Given the description of an element on the screen output the (x, y) to click on. 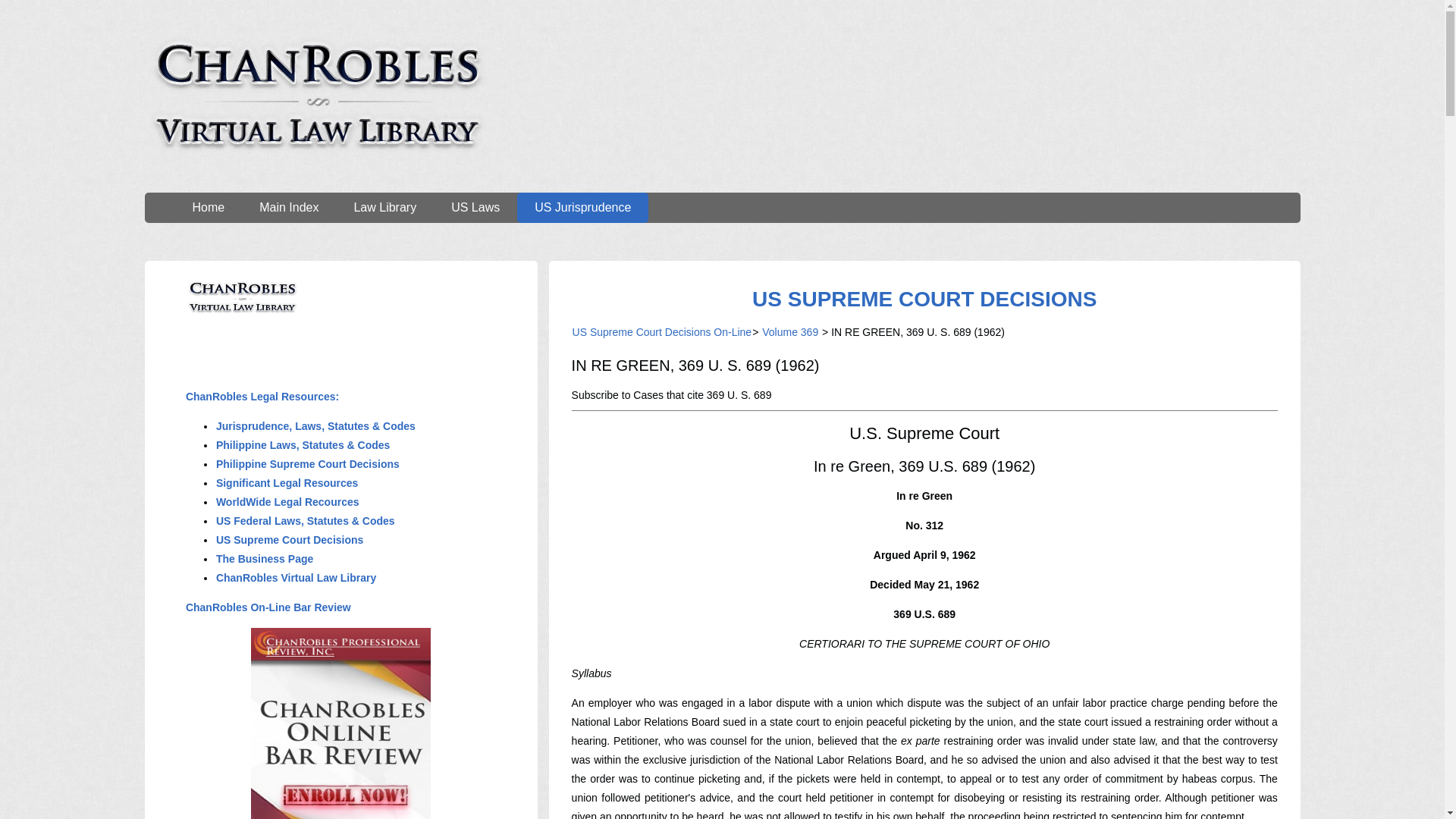
US SUPREME COURT DECISIONS (924, 299)
Volume 369 (789, 331)
Home (207, 207)
Main Index (288, 207)
US Laws (474, 207)
US Supreme Court Decisions On-Line (662, 331)
US Jurisprudence (581, 207)
United States Supreme Court Decisions - On-Line (924, 299)
Law Library (384, 207)
